Given the description of an element on the screen output the (x, y) to click on. 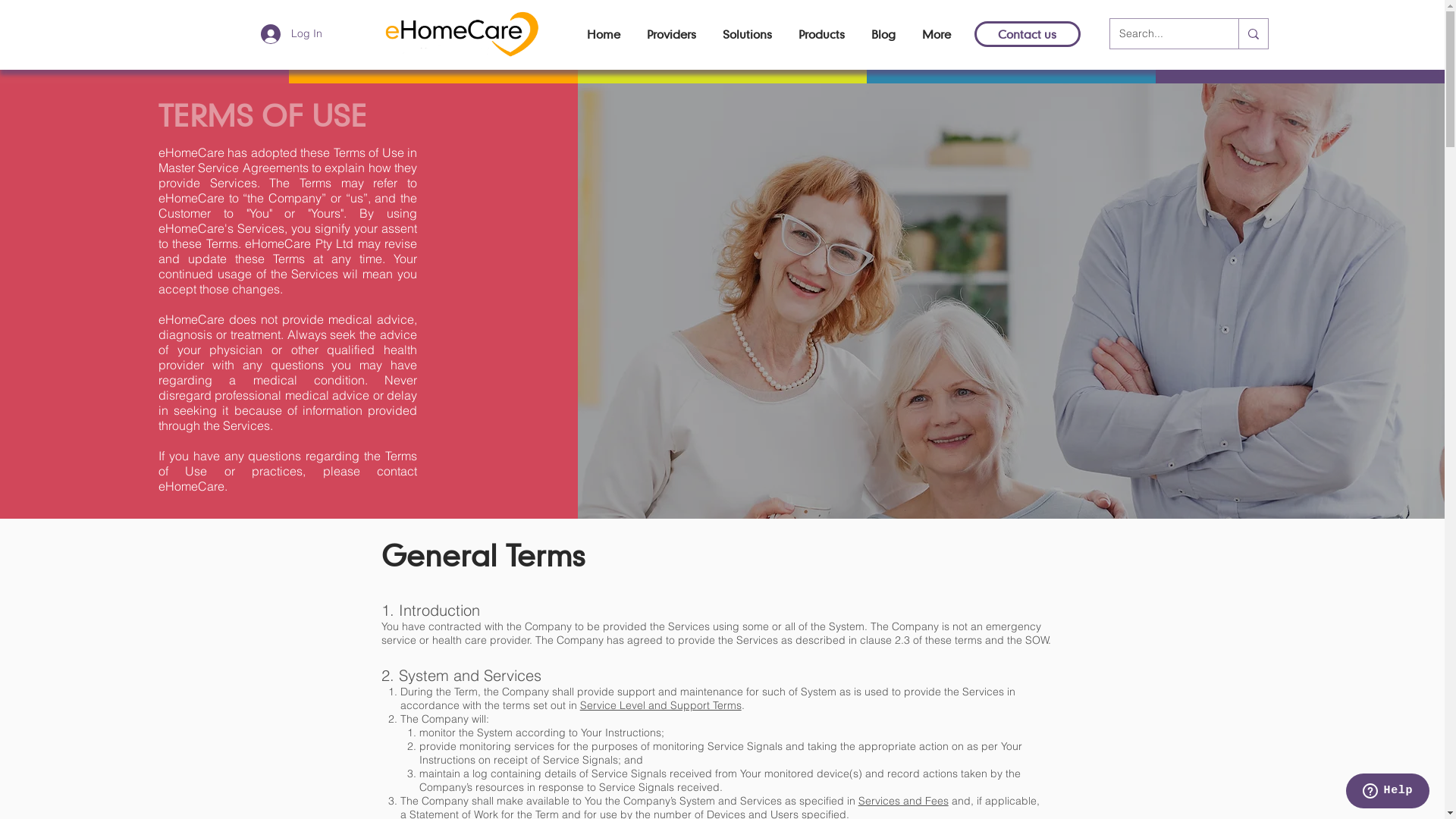
Products Element type: text (821, 33)
Opens a widget where you can find more information Element type: hover (1387, 792)
Service Level and Support Terms Element type: text (660, 705)
Blog Element type: text (883, 33)
Providers Element type: text (671, 33)
Contact us Element type: text (1026, 34)
Solutions Element type: text (747, 33)
Home Element type: text (603, 33)
Log In Element type: text (291, 33)
